Given the description of an element on the screen output the (x, y) to click on. 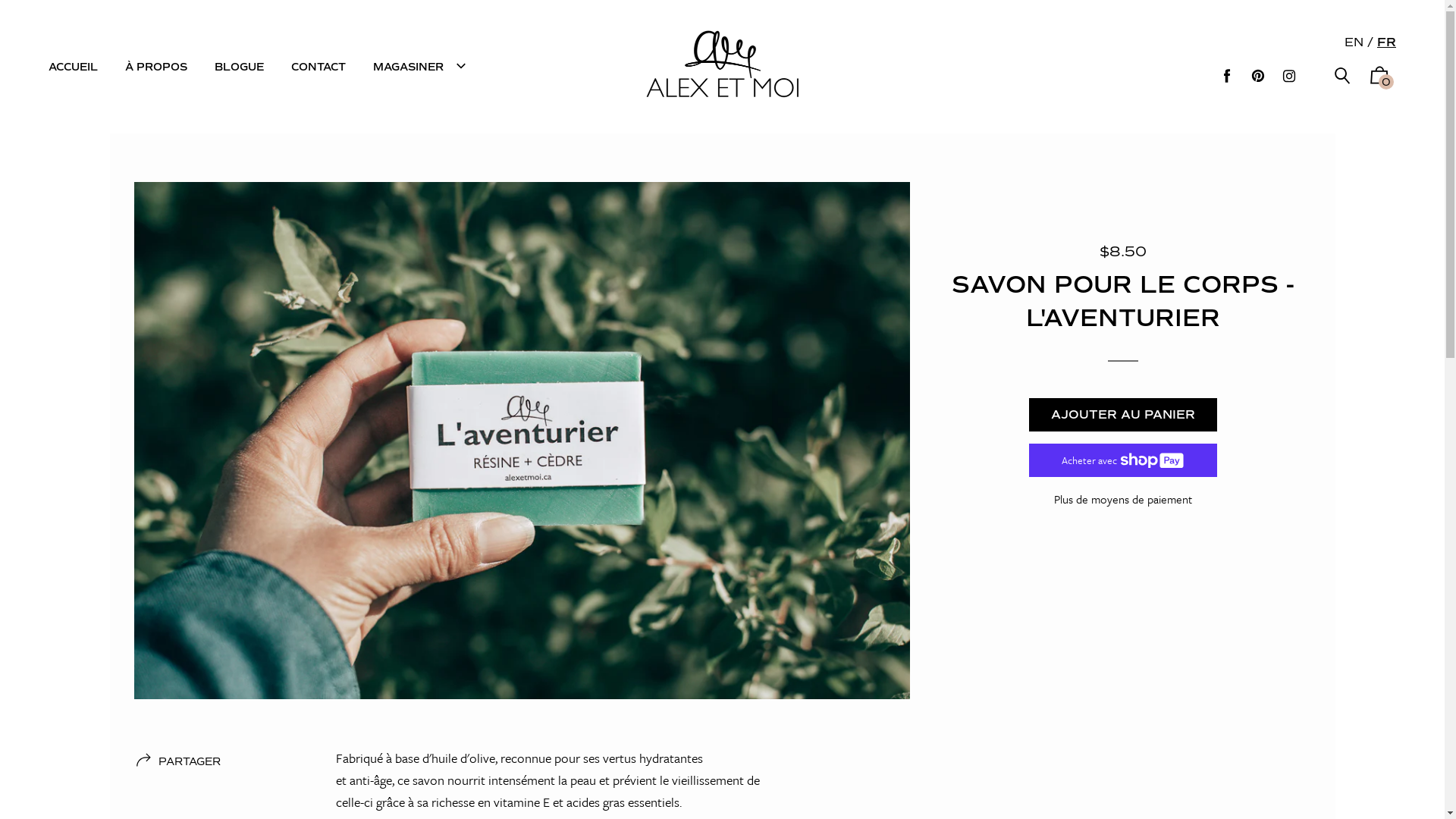
FR Element type: text (1386, 42)
Alex et moi sur Pinterest Element type: hover (1257, 75)
BLOGUE Element type: text (239, 67)
Plus de moyens de paiement Element type: text (1123, 499)
MAGASINER Element type: text (420, 65)
ACCUEIL Element type: text (72, 67)
0 Element type: text (1379, 78)
Alex et moi sur Facebook Element type: hover (1226, 75)
CONTACT Element type: text (318, 67)
EN Element type: text (1353, 42)
AJOUTER AU PANIER Element type: text (1123, 414)
Alex et moi sur Instagram Element type: hover (1288, 75)
